Given the description of an element on the screen output the (x, y) to click on. 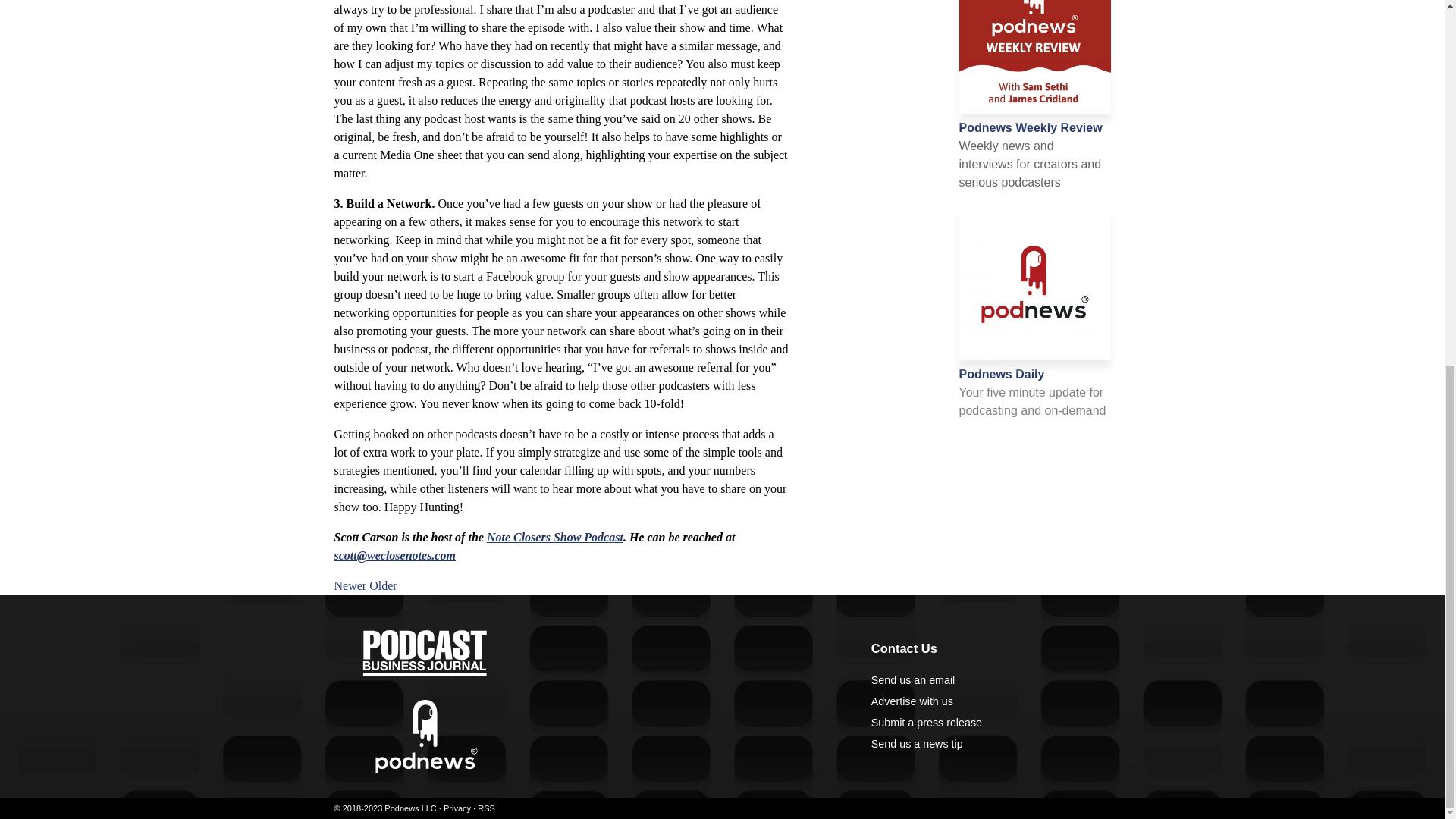
Privacy (457, 808)
Send us an email (912, 680)
RSS (486, 808)
Older (382, 585)
Submit a press release (925, 722)
Note Closers Show Podcast (554, 536)
Newer (349, 585)
Podnews Daily (1000, 373)
Advertise with us (911, 701)
Podnews Weekly Review (1030, 127)
